Given the description of an element on the screen output the (x, y) to click on. 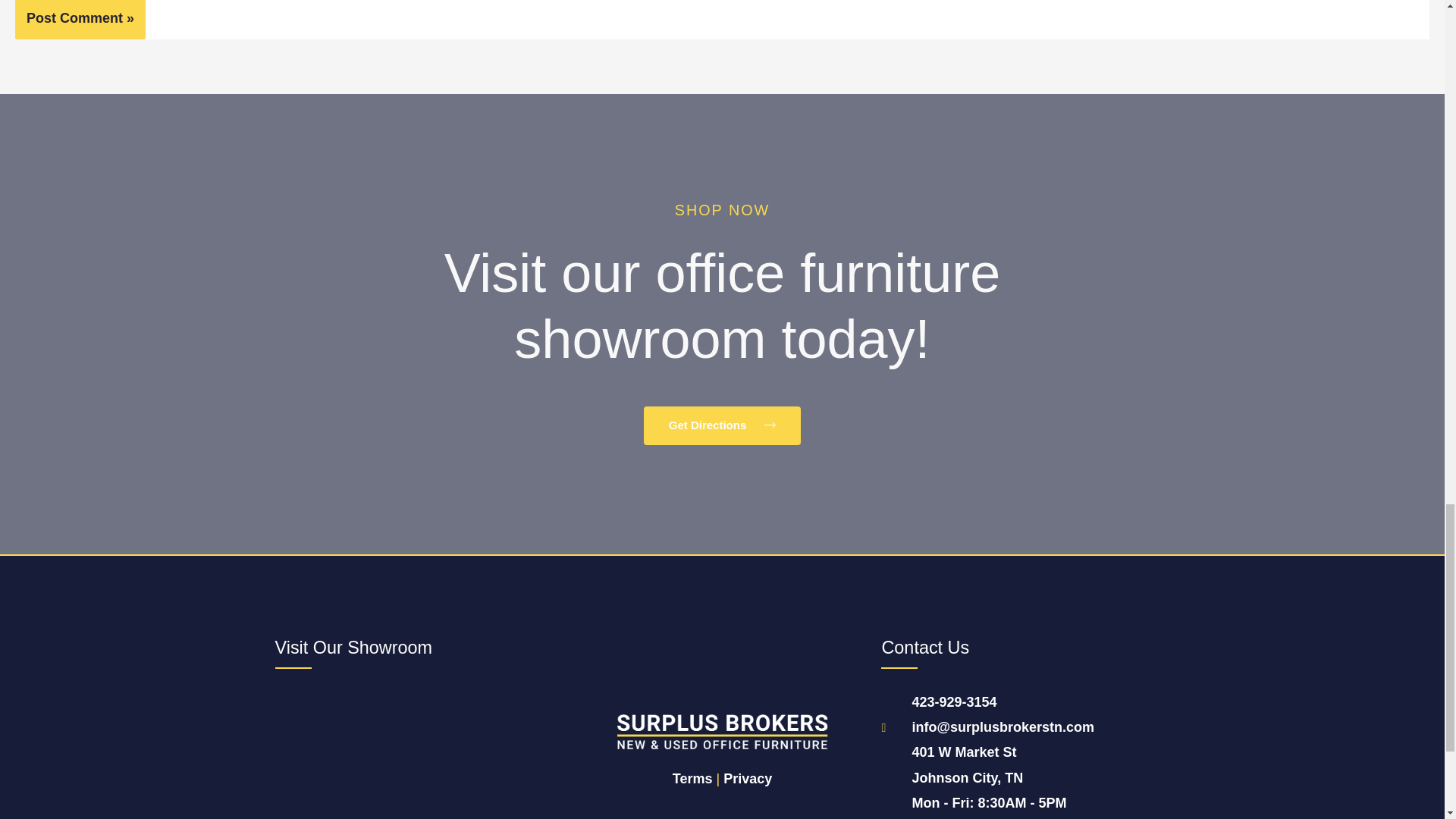
Terms (692, 778)
Get Directions (722, 425)
Privacy (747, 778)
